Given the description of an element on the screen output the (x, y) to click on. 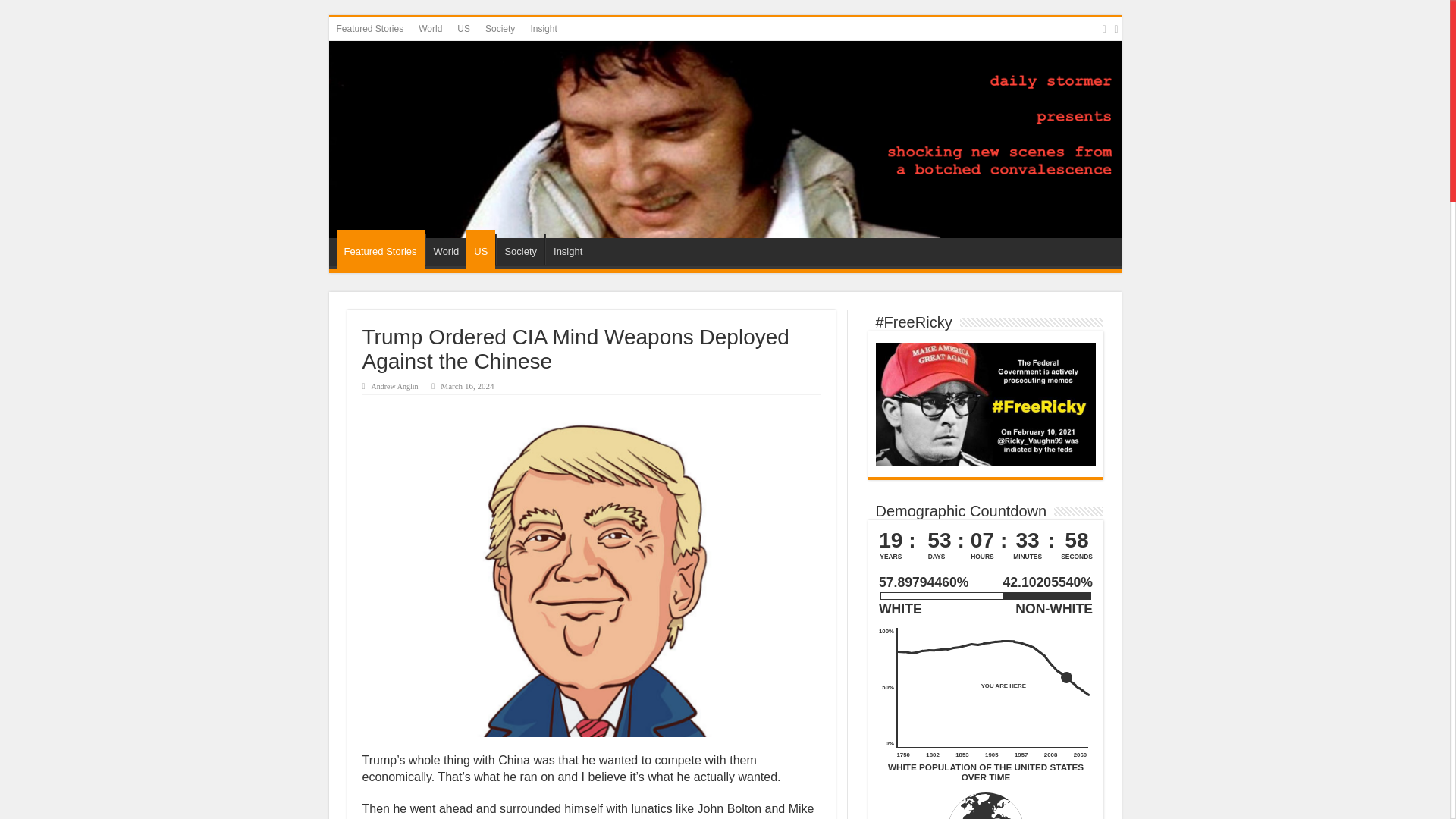
Society (520, 249)
US (463, 28)
Insight (566, 249)
Society (499, 28)
World (446, 249)
Featured Stories (370, 28)
World (429, 28)
Featured Stories (380, 249)
Insight (543, 28)
